Given the description of an element on the screen output the (x, y) to click on. 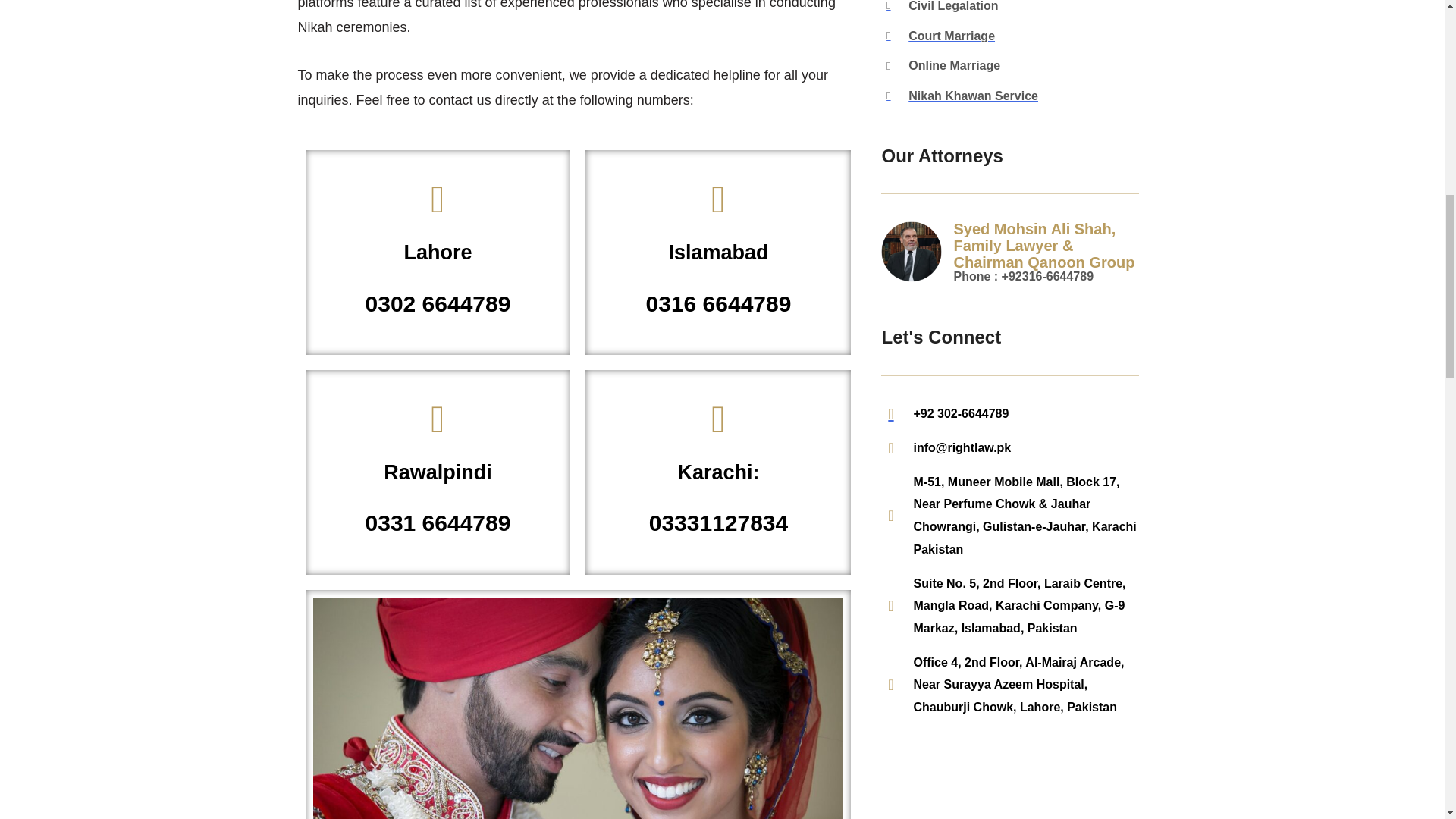
Let's Connect (437, 472)
Our Attorneys (1009, 337)
